Given the description of an element on the screen output the (x, y) to click on. 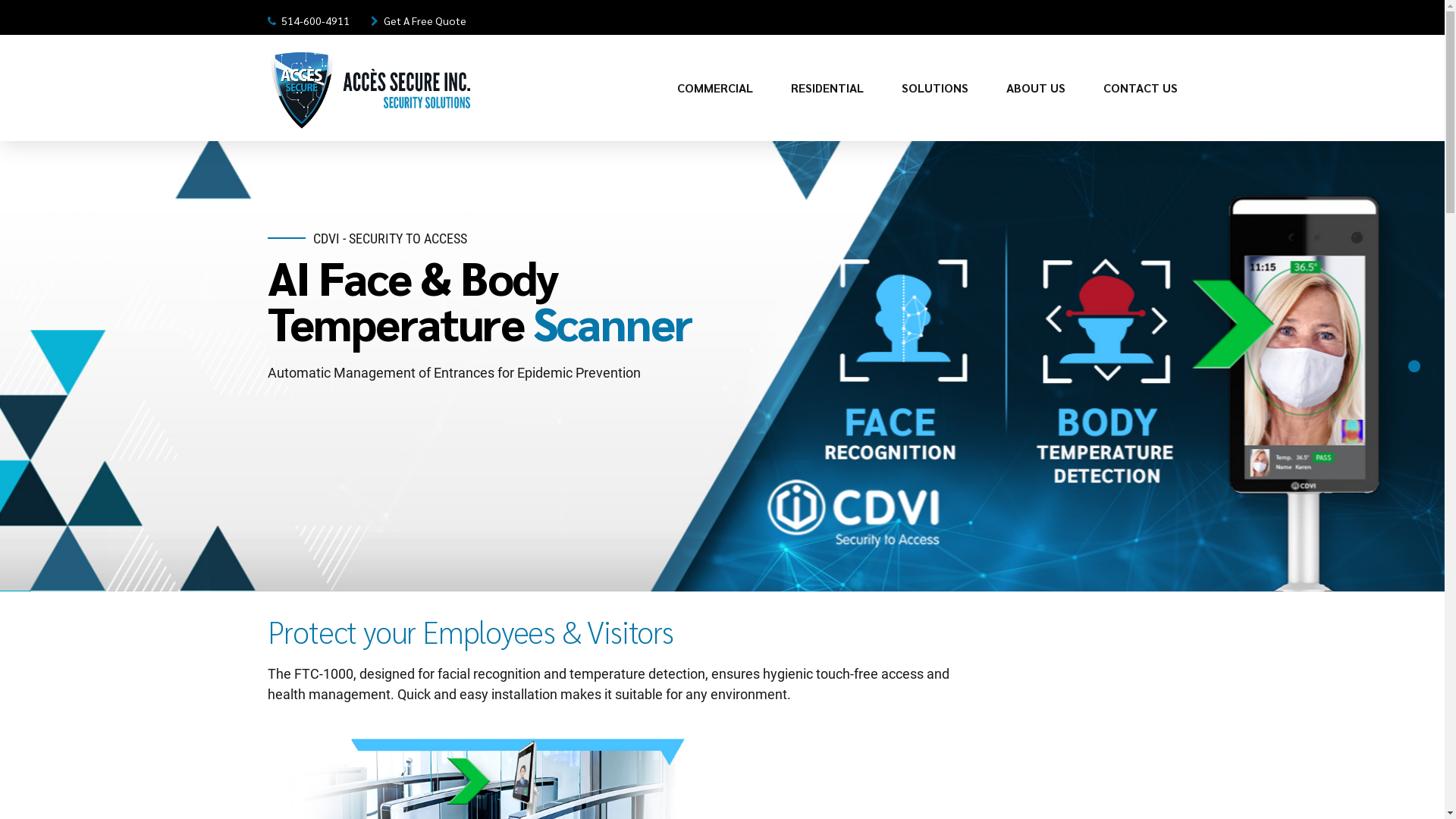
SOLUTIONS Element type: text (933, 87)
514-600-4911 Element type: text (310, 17)
Get A Free Quote Element type: text (420, 17)
RESIDENTIAL Element type: text (826, 87)
COMMERCIAL Element type: text (714, 87)
CONTACT US Element type: text (1139, 87)
ABOUT US Element type: text (1034, 87)
